Given the description of an element on the screen output the (x, y) to click on. 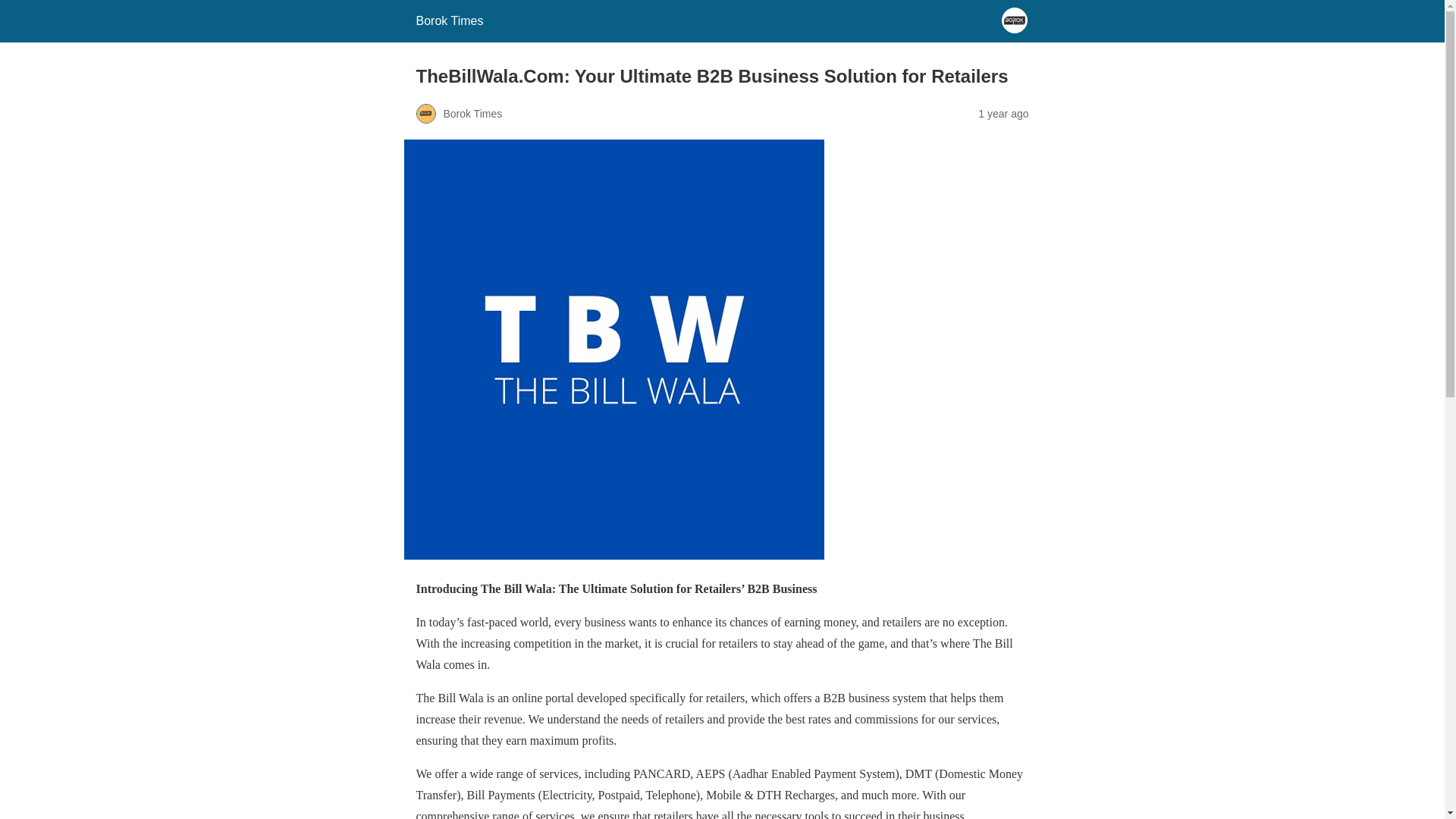
Borok Times (448, 20)
